Given the description of an element on the screen output the (x, y) to click on. 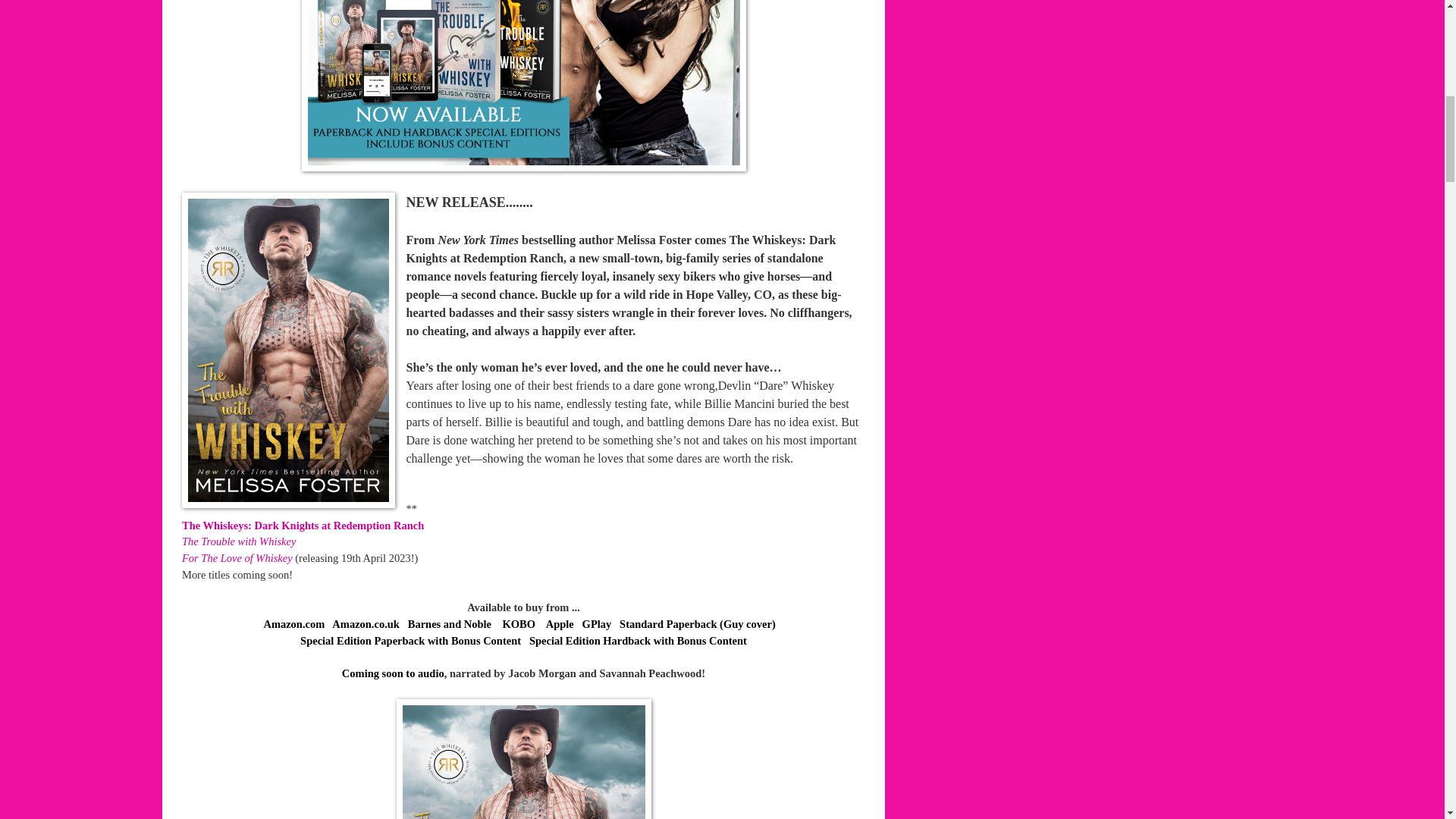
KOBO  (520, 623)
The Trouble with Whiskey  (240, 541)
Coming soon to audio (393, 673)
Special Edition Paperback with Bonus Content (410, 640)
Amazon.co.uk (364, 623)
Barnes and Noble (449, 623)
The Whiskeys: Dark Knights at Redemption Ranch  (304, 525)
GPlay (596, 623)
Amazon.com (293, 623)
Apple (559, 623)
